Given the description of an element on the screen output the (x, y) to click on. 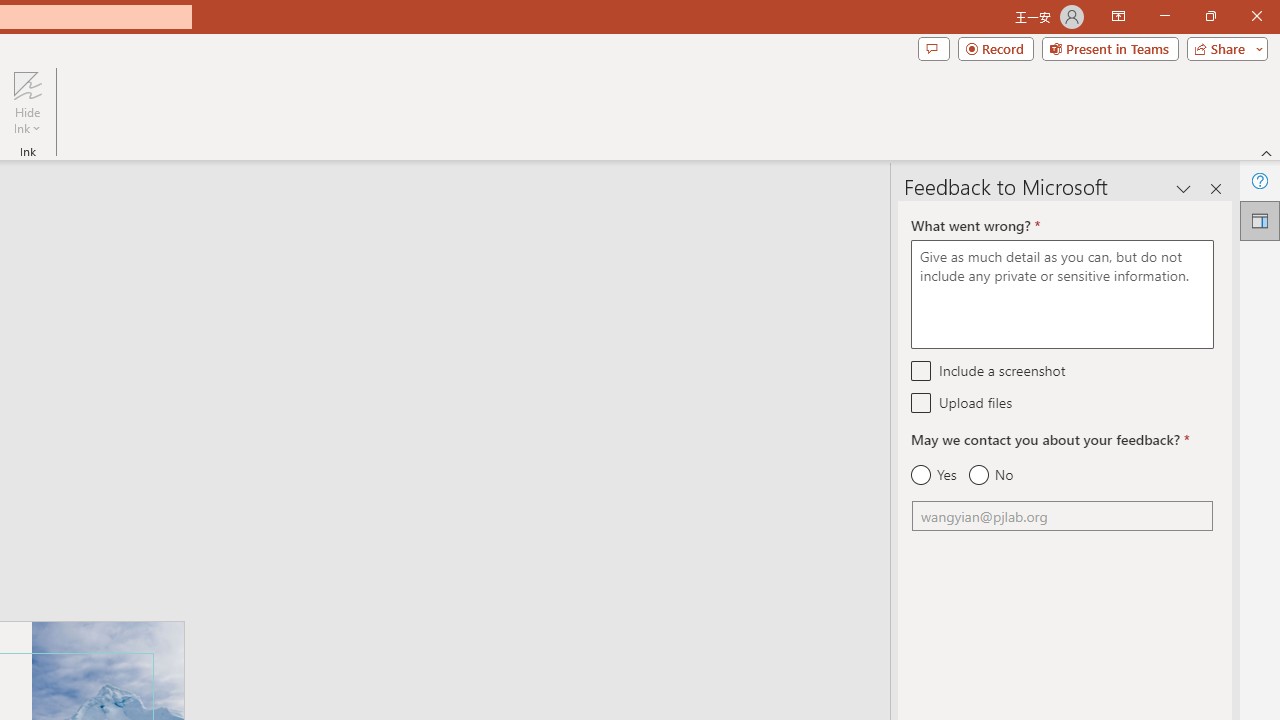
Feedback to Microsoft (1260, 220)
Include a screenshot (921, 370)
